Given the description of an element on the screen output the (x, y) to click on. 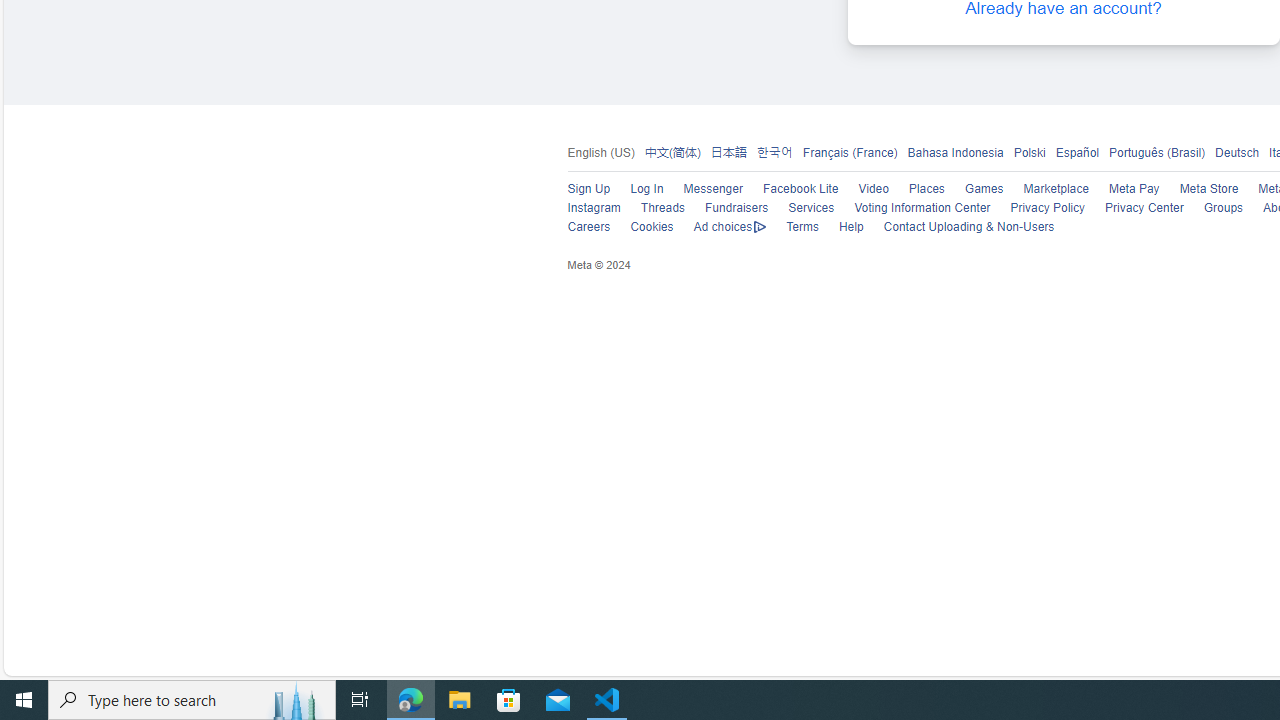
Groups (1213, 208)
Privacy Center (1134, 208)
Polski (1024, 153)
Places (916, 190)
Terms (792, 228)
Places (925, 189)
Meta Pay (1133, 189)
Terms (802, 227)
Voting Information Center (921, 208)
Meta Store (1198, 190)
Bahasa Indonesia (955, 151)
Help (851, 227)
Services (811, 208)
